Given the description of an element on the screen output the (x, y) to click on. 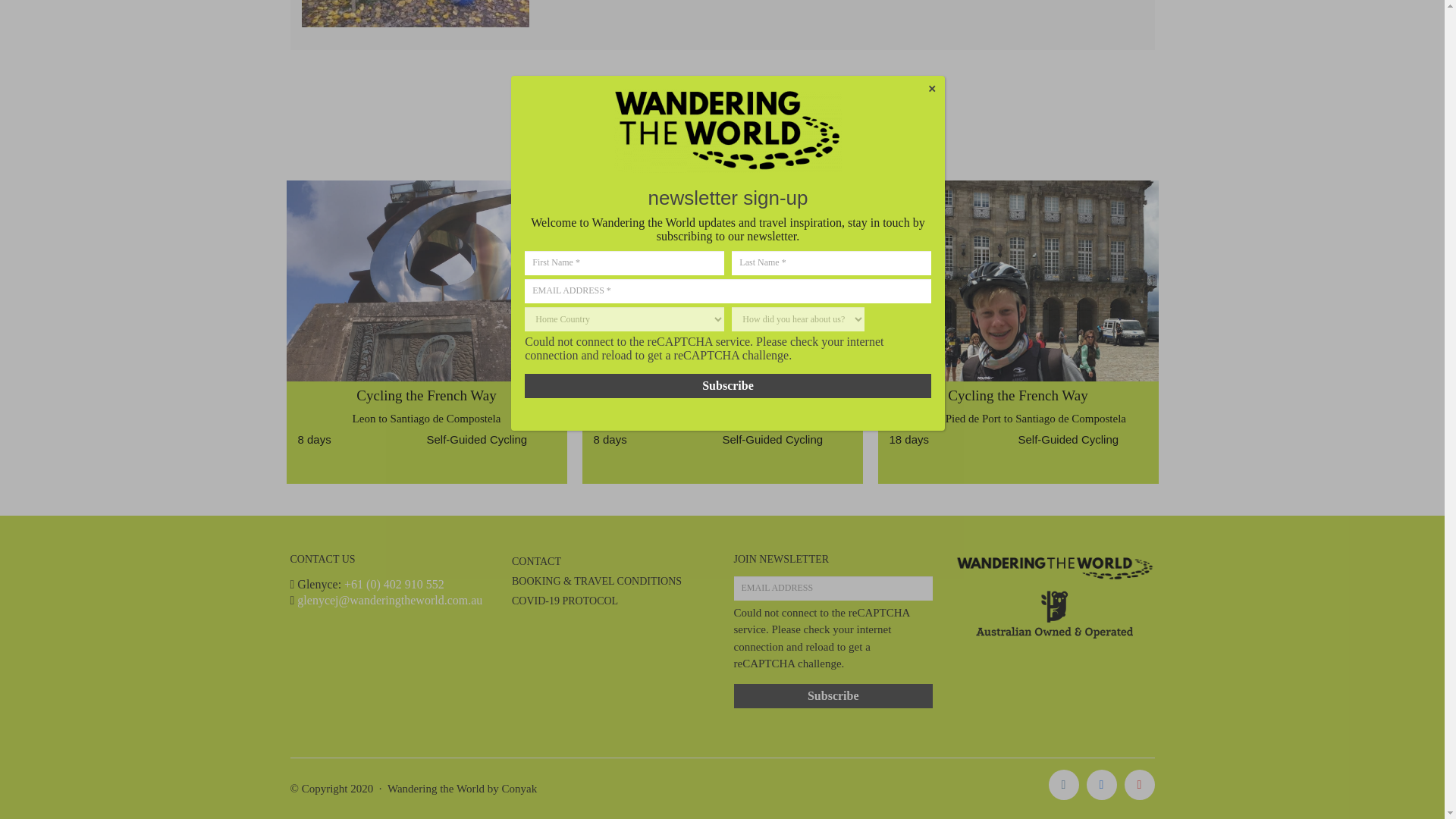
YouTube (1139, 784)
Facebook (1101, 784)
Instagram (1063, 784)
